Given the description of an element on the screen output the (x, y) to click on. 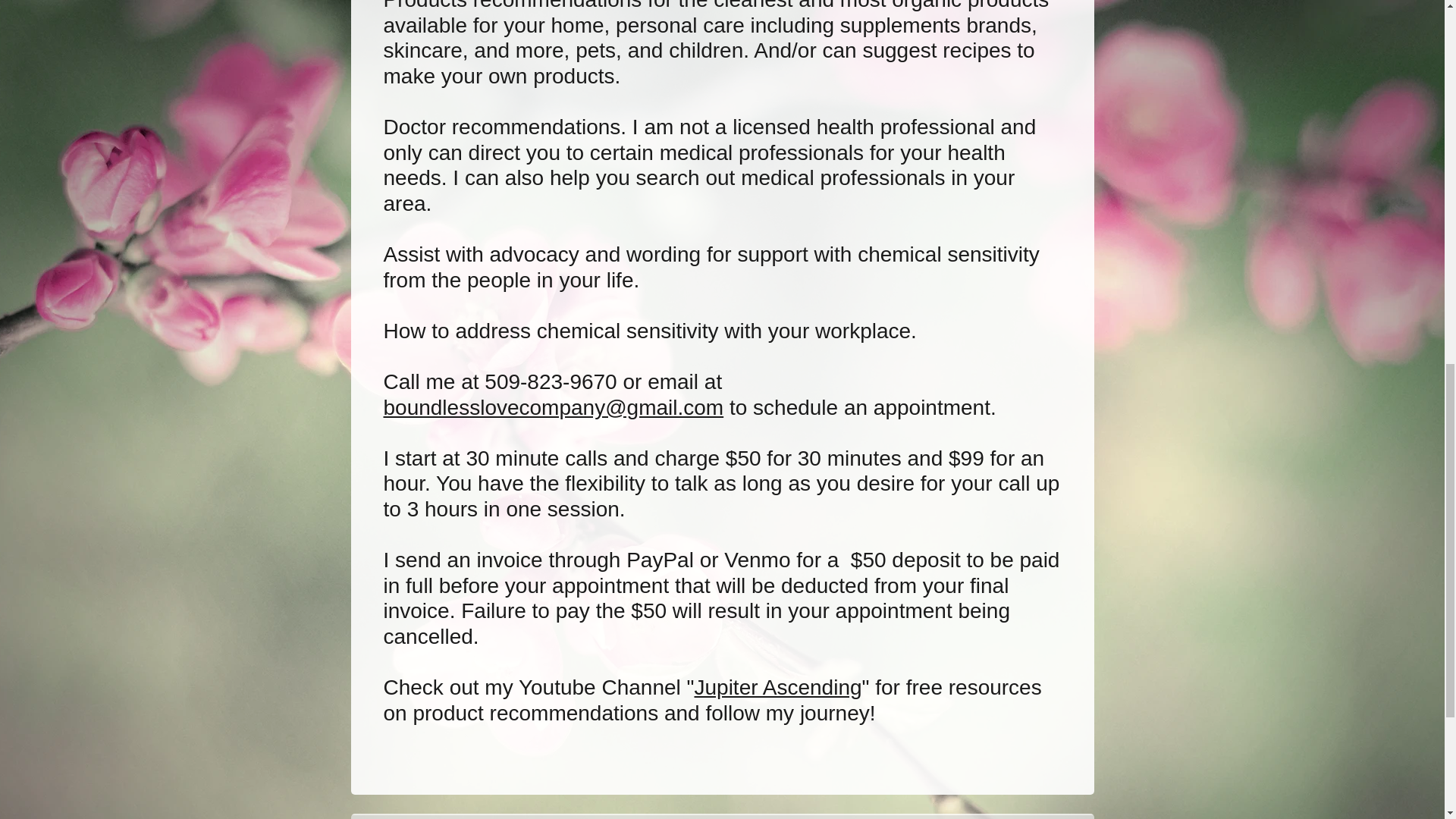
Jupiter Ascending (777, 687)
